Given the description of an element on the screen output the (x, y) to click on. 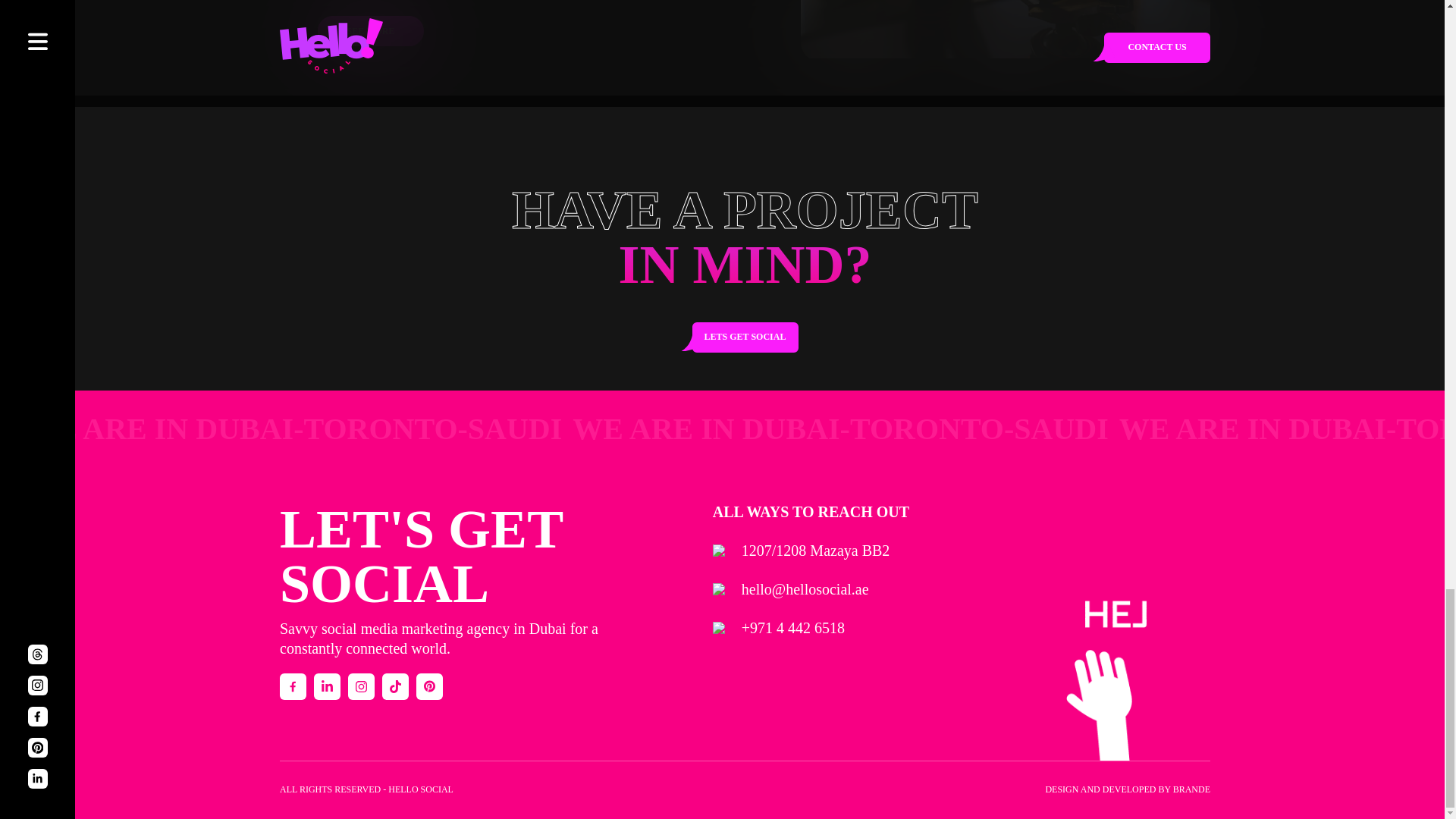
LETS GET SOCIAL (744, 337)
SEE MORE (370, 30)
